Given the description of an element on the screen output the (x, y) to click on. 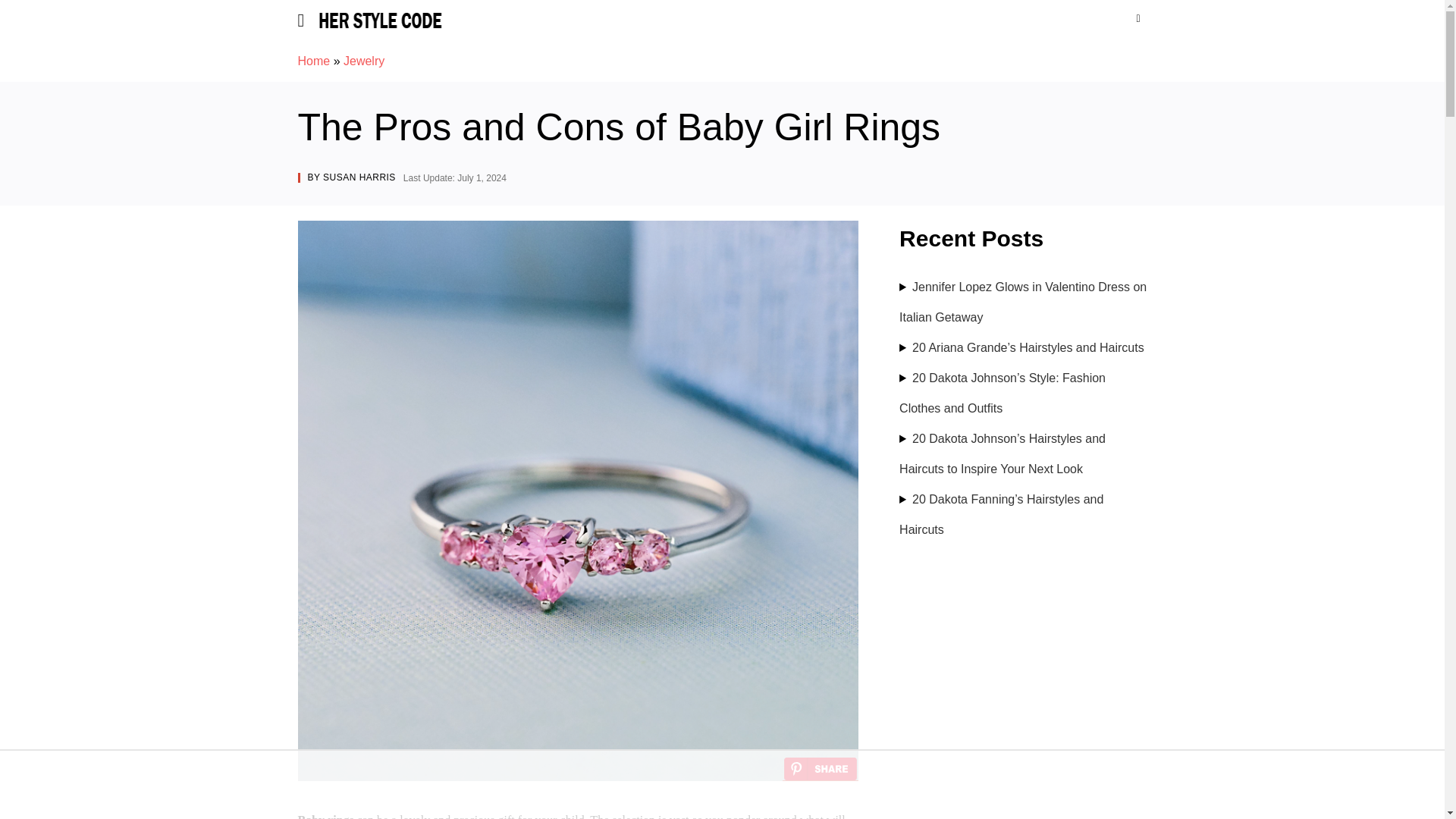
Home (313, 60)
Jewelry (363, 60)
